Given the description of an element on the screen output the (x, y) to click on. 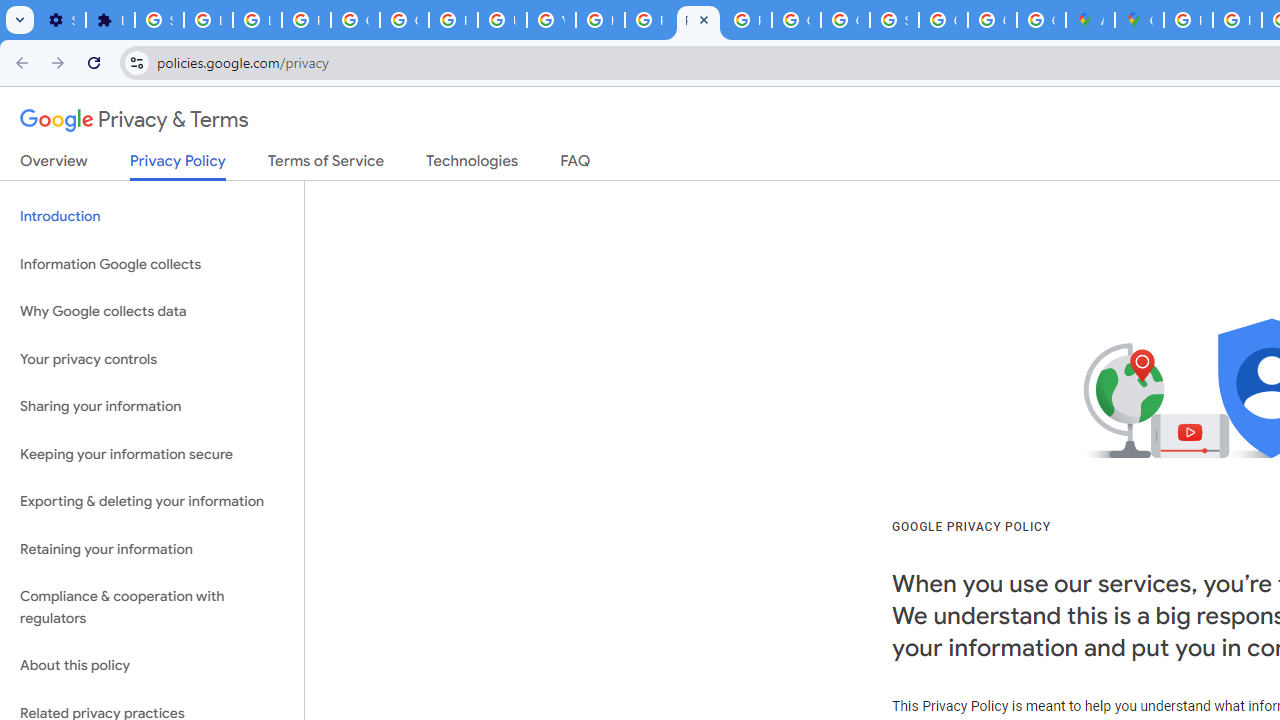
Google Maps (1138, 20)
Introduction (152, 216)
Policy Accountability and Transparency - Transparency Center (1188, 20)
Google Account Help (355, 20)
Information Google collects (152, 263)
Privacy Help Center - Policies Help (649, 20)
Terms of Service (326, 165)
Keeping your information secure (152, 453)
Learn how to find your photos - Google Photos Help (257, 20)
https://scholar.google.com/ (600, 20)
